Given the description of an element on the screen output the (x, y) to click on. 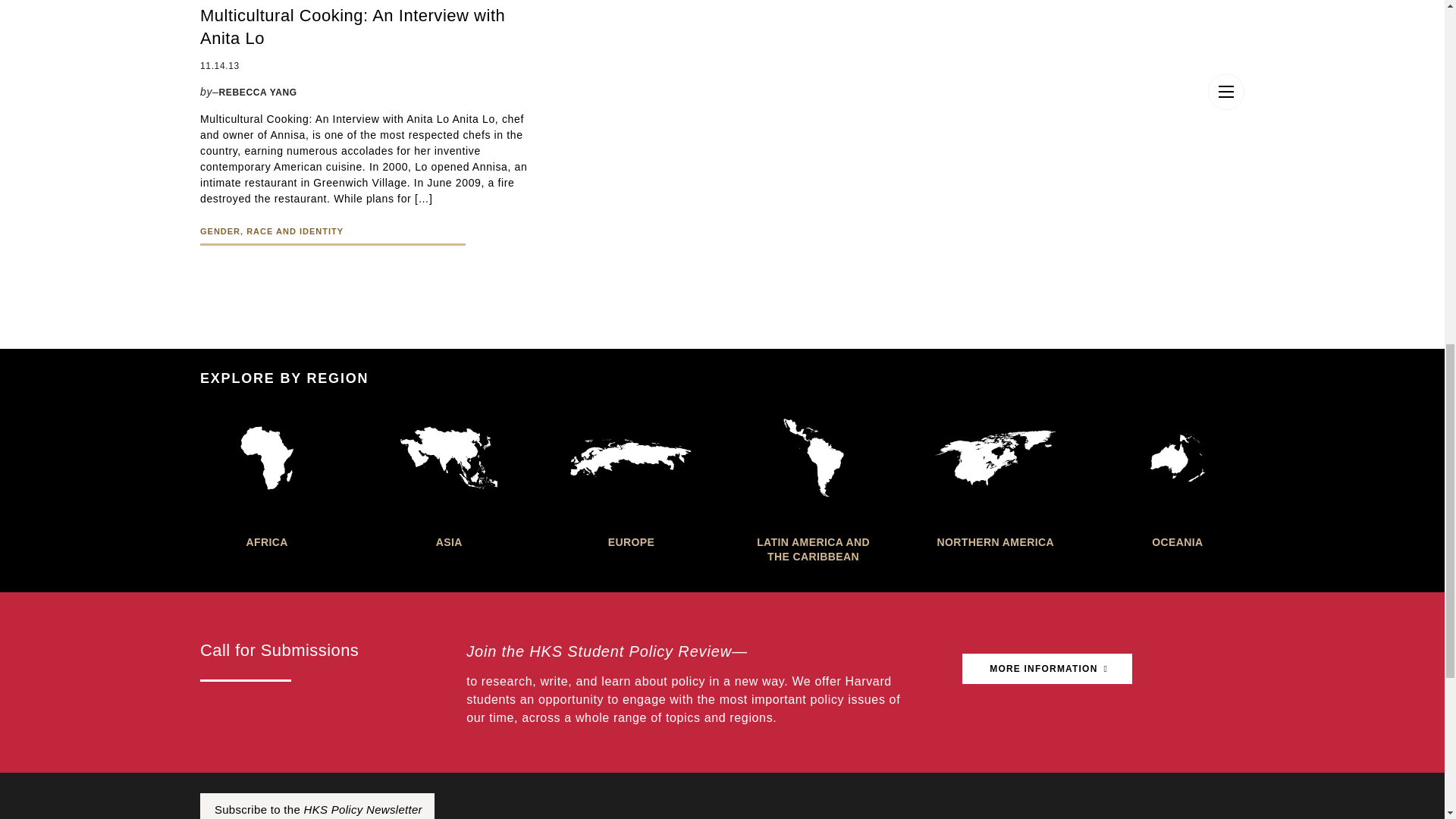
MORE INFORMATION (1047, 668)
EUROPE (630, 477)
OCEANIA (1177, 477)
Multicultural Cooking: An Interview with Anita Lo (366, 26)
ASIA (448, 477)
AFRICA (266, 477)
NORTHERN AMERICA (995, 477)
Multicultural Cooking: An Interview with Anita Lo (366, 26)
See articles from Africa (266, 477)
